Given the description of an element on the screen output the (x, y) to click on. 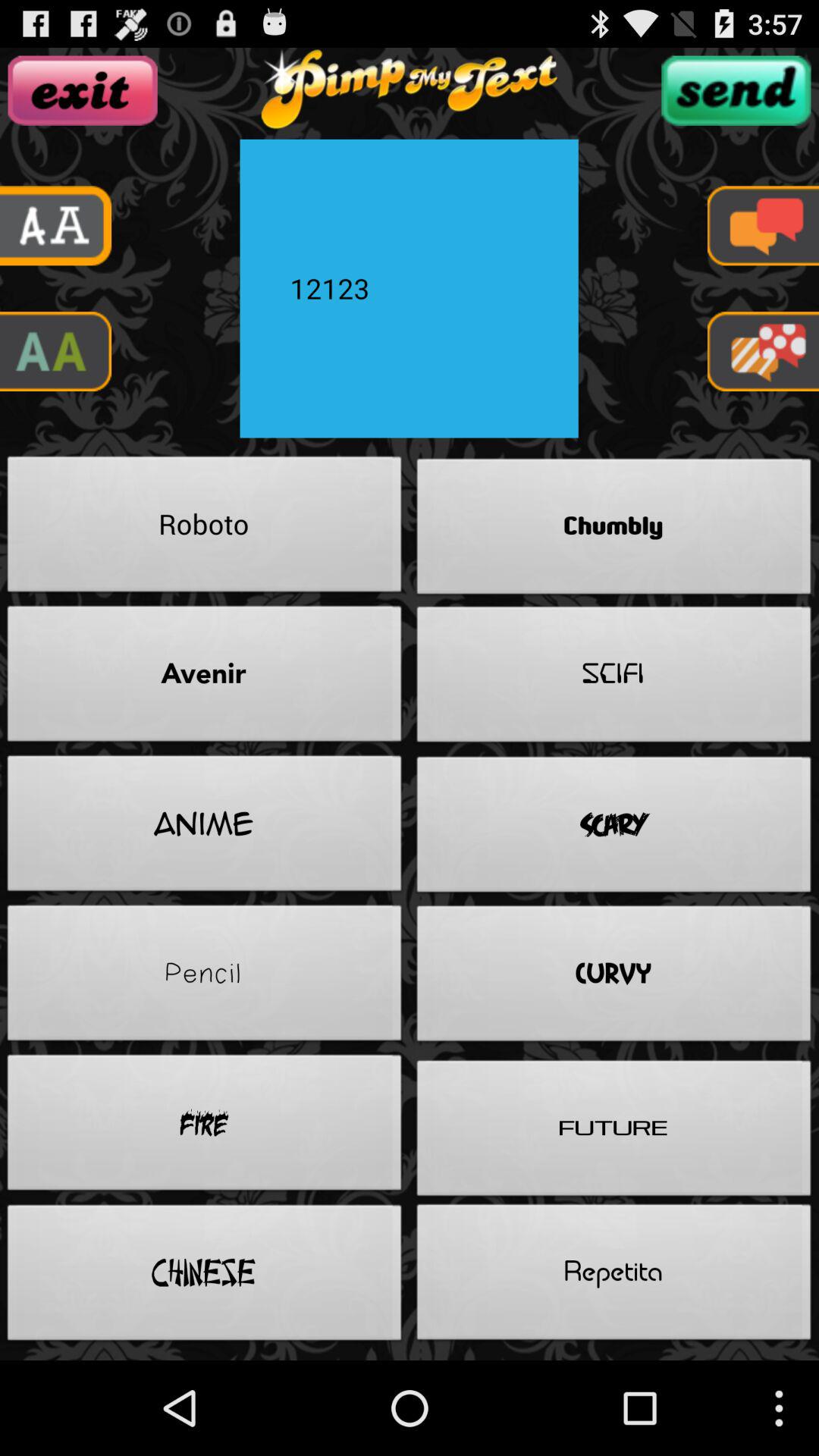
capitalize text (55, 351)
